Given the description of an element on the screen output the (x, y) to click on. 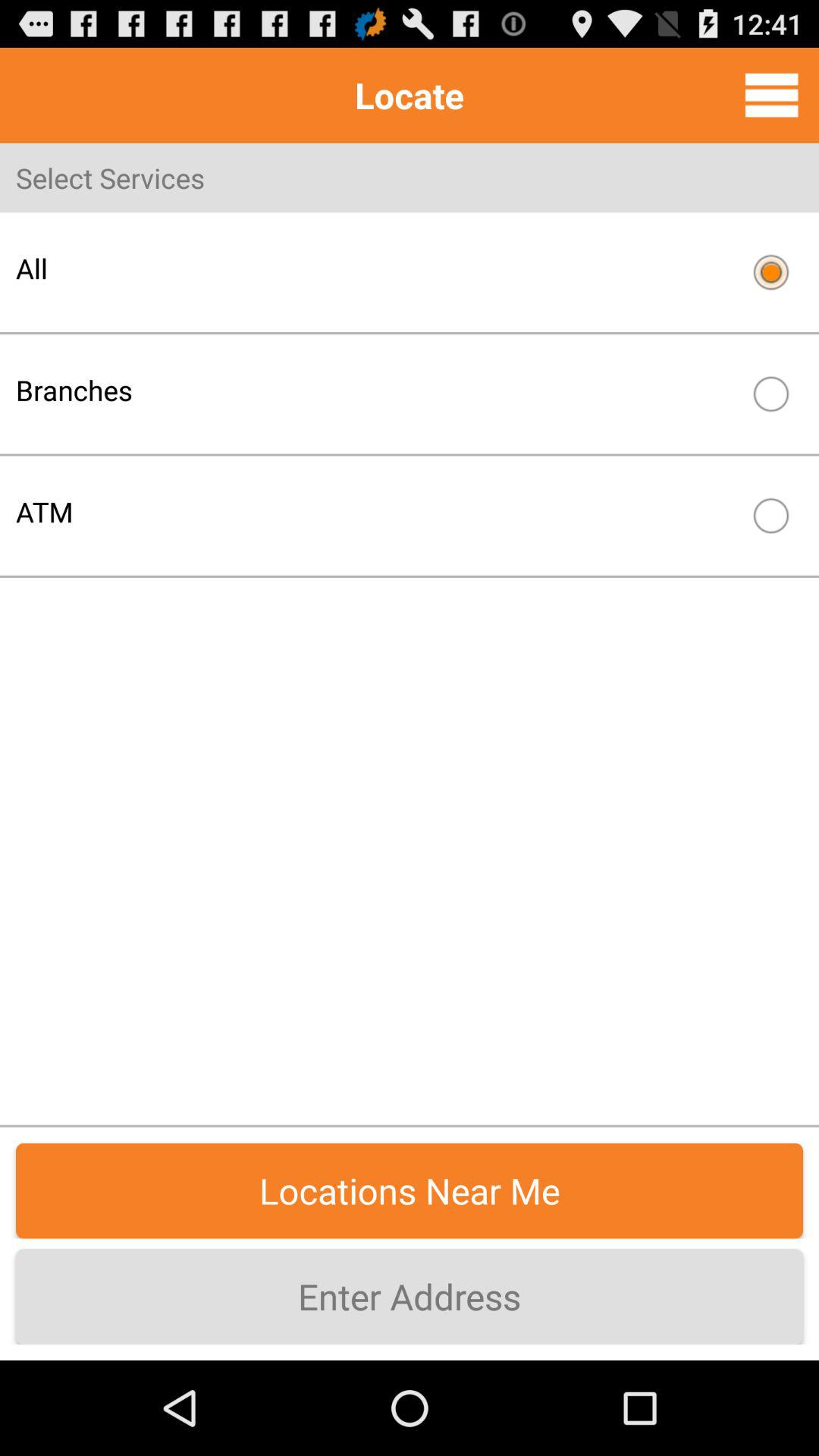
click the icon above the all (771, 95)
